Given the description of an element on the screen output the (x, y) to click on. 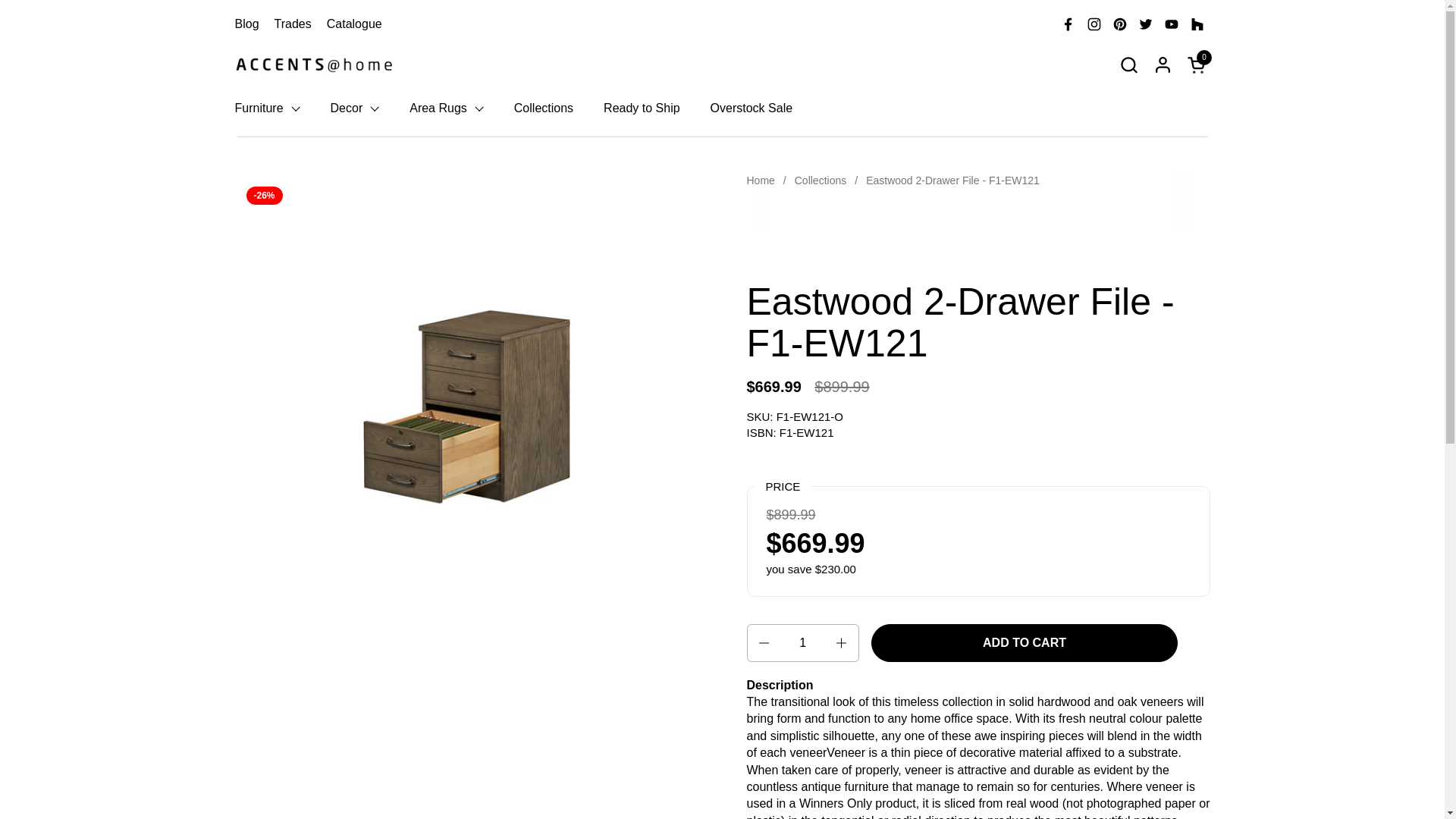
Catalogue (353, 23)
YouTube (1171, 23)
Open search (1128, 63)
Pinterest (1119, 23)
Facebook (1068, 23)
Trades (293, 23)
Blog (246, 23)
Open cart (1198, 63)
Twitter (1145, 23)
